Given the description of an element on the screen output the (x, y) to click on. 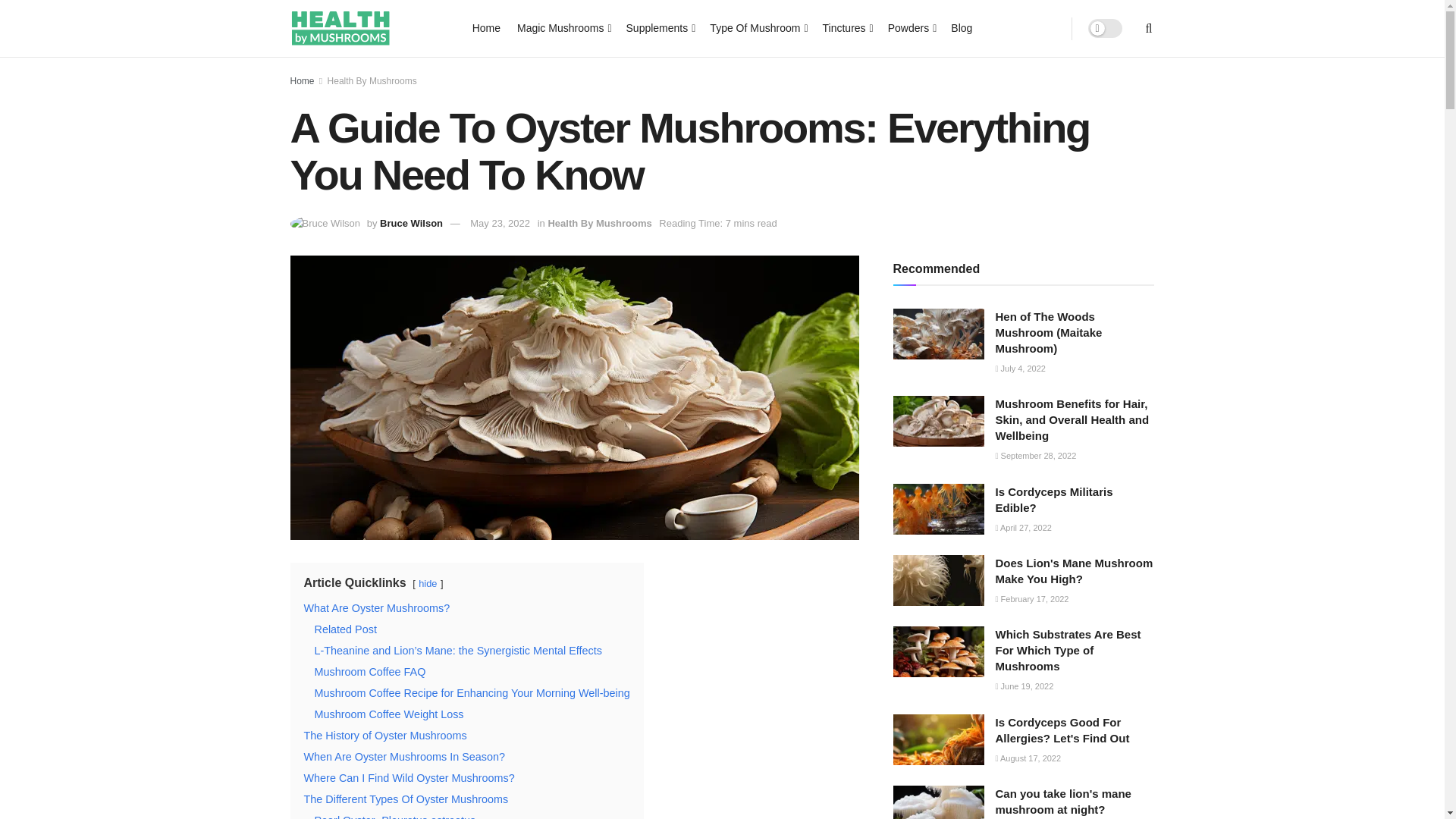
Home (485, 27)
Type Of Mushroom (757, 27)
Magic Mushrooms (563, 27)
Supplements (660, 27)
